Given the description of an element on the screen output the (x, y) to click on. 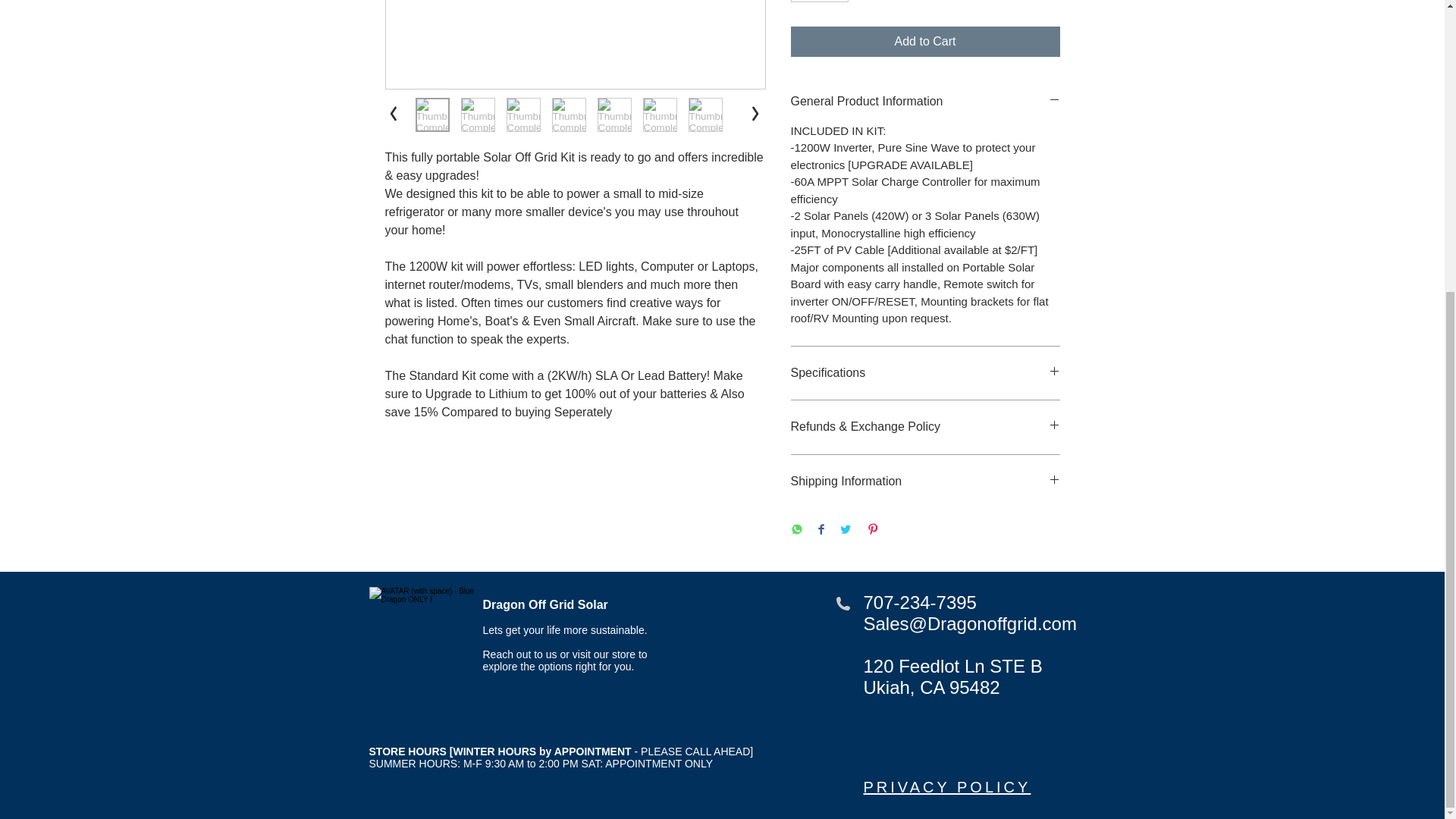
1 (818, 1)
